Given the description of an element on the screen output the (x, y) to click on. 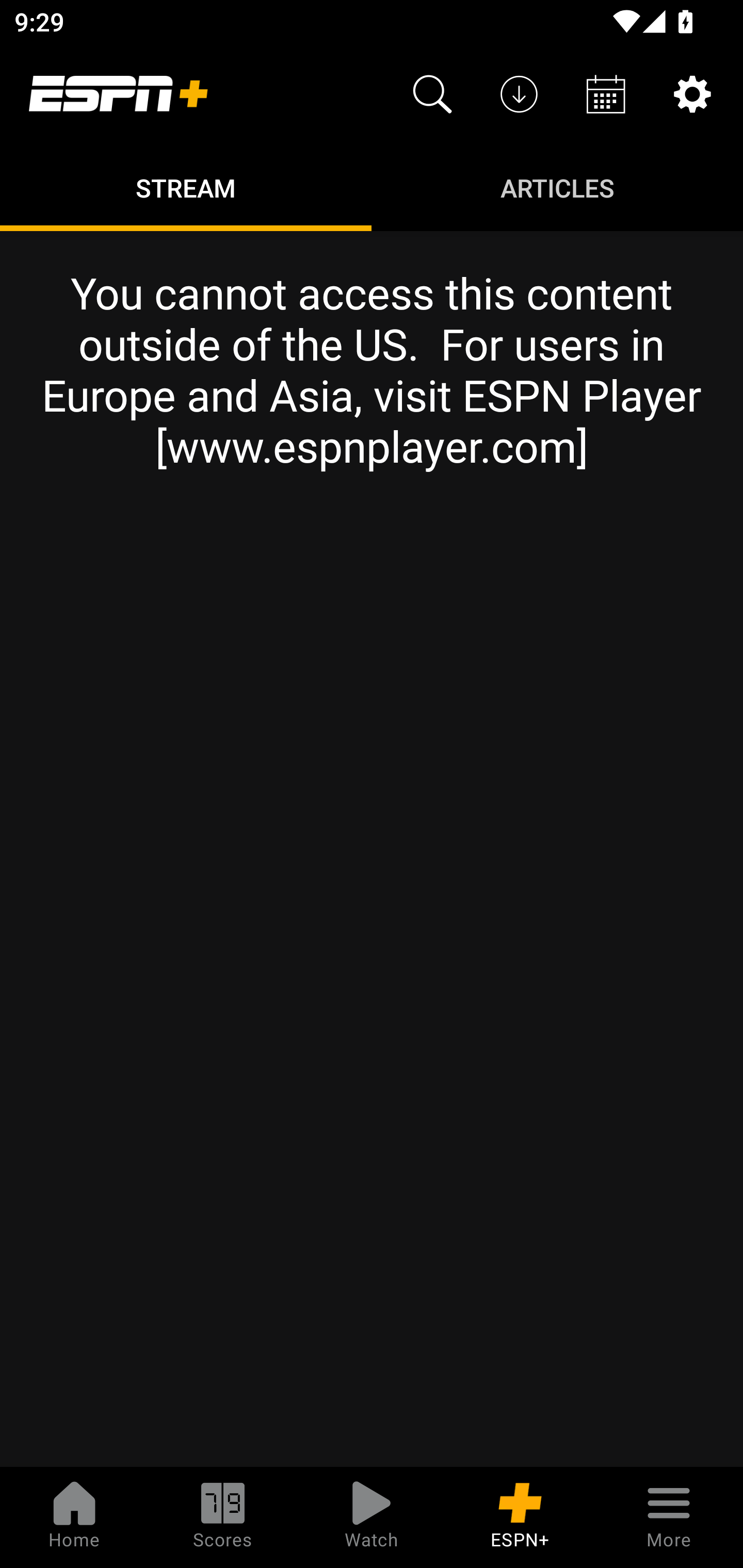
Search (432, 93)
Downloads (518, 93)
Schedule (605, 93)
Settings (692, 93)
Articles ARTICLES (557, 187)
Home (74, 1517)
Scores (222, 1517)
Watch (371, 1517)
More (668, 1517)
